Given the description of an element on the screen output the (x, y) to click on. 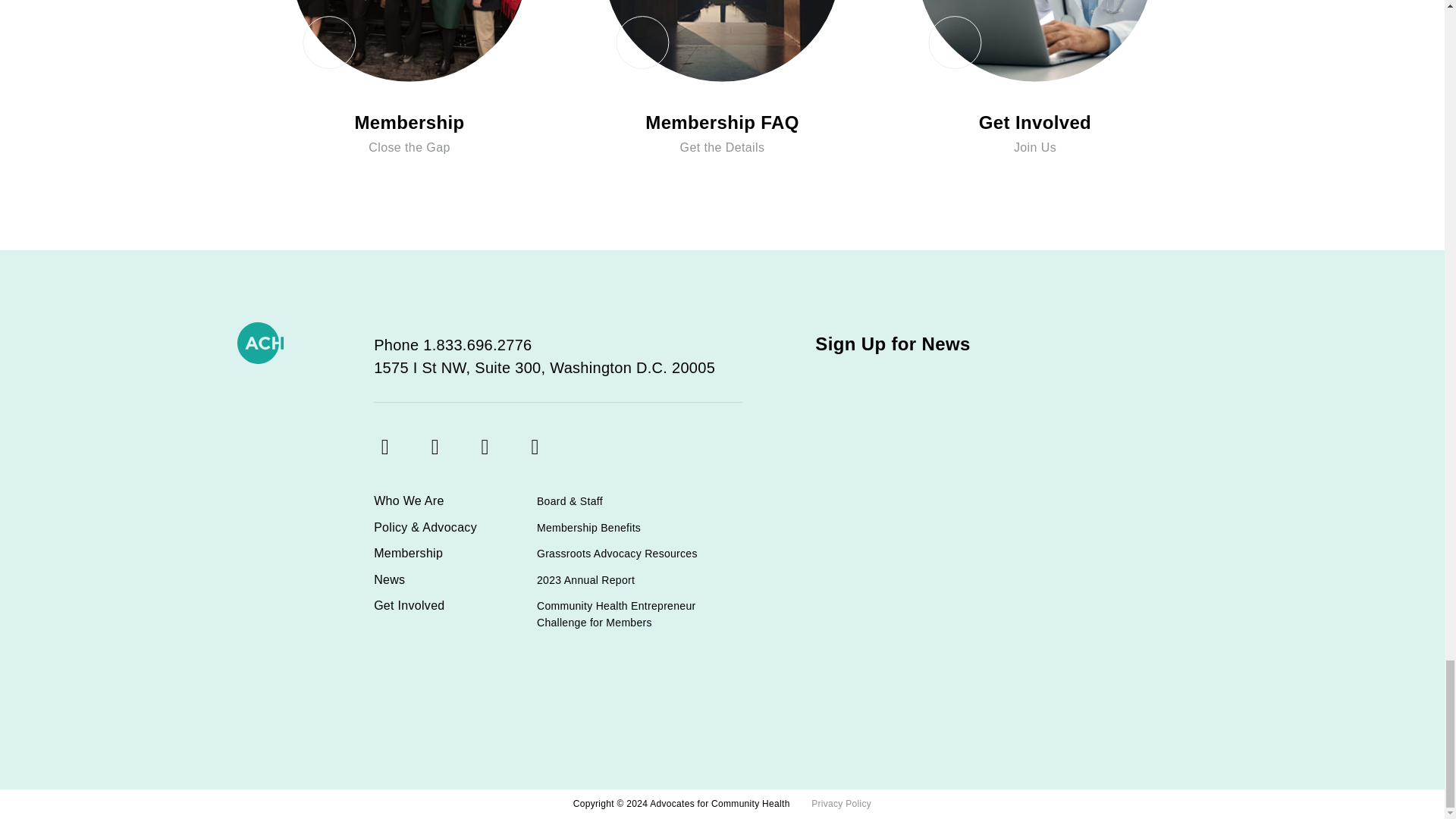
Form 0 (999, 545)
